Given the description of an element on the screen output the (x, y) to click on. 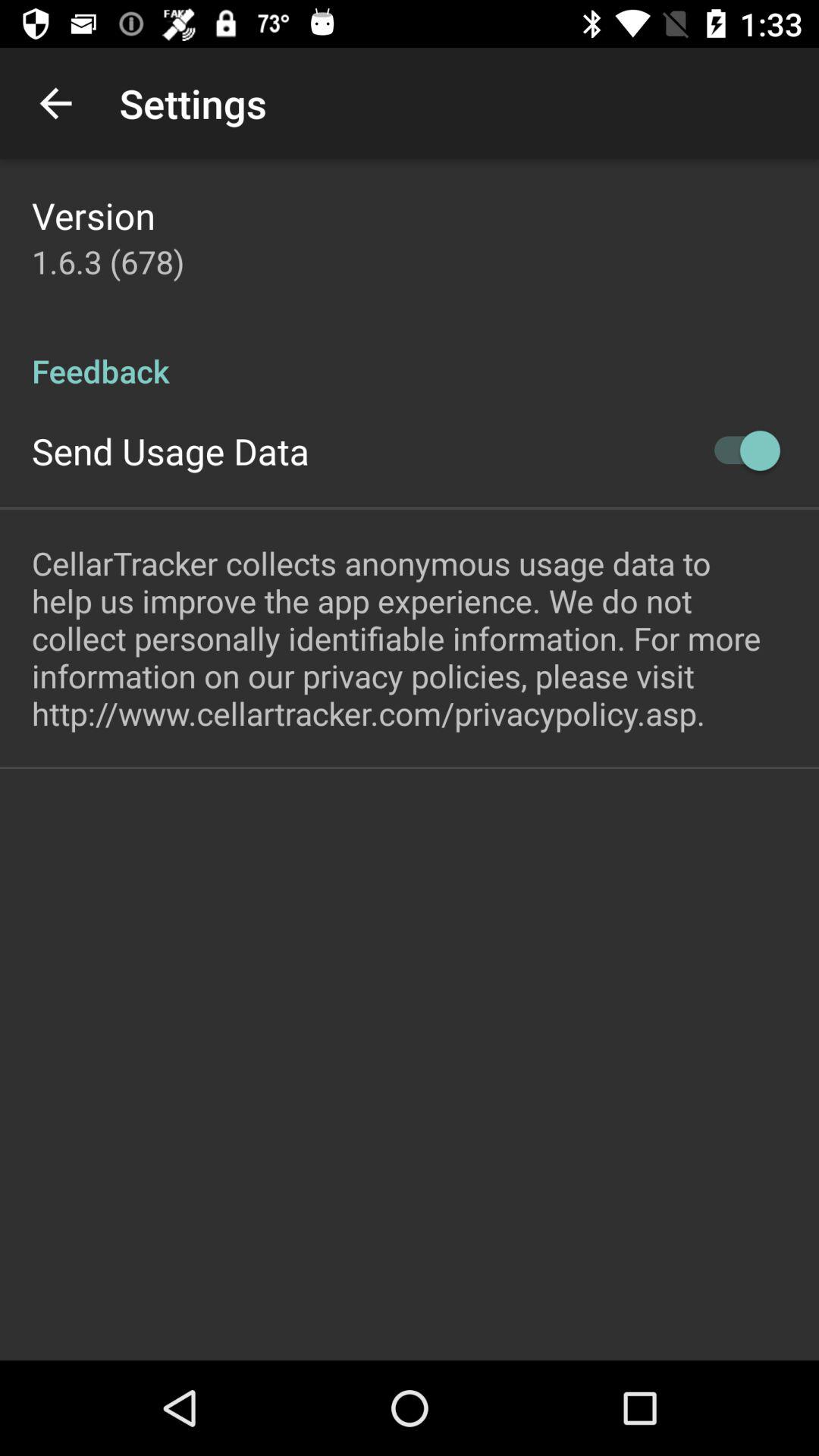
turn on feedback (409, 354)
